Given the description of an element on the screen output the (x, y) to click on. 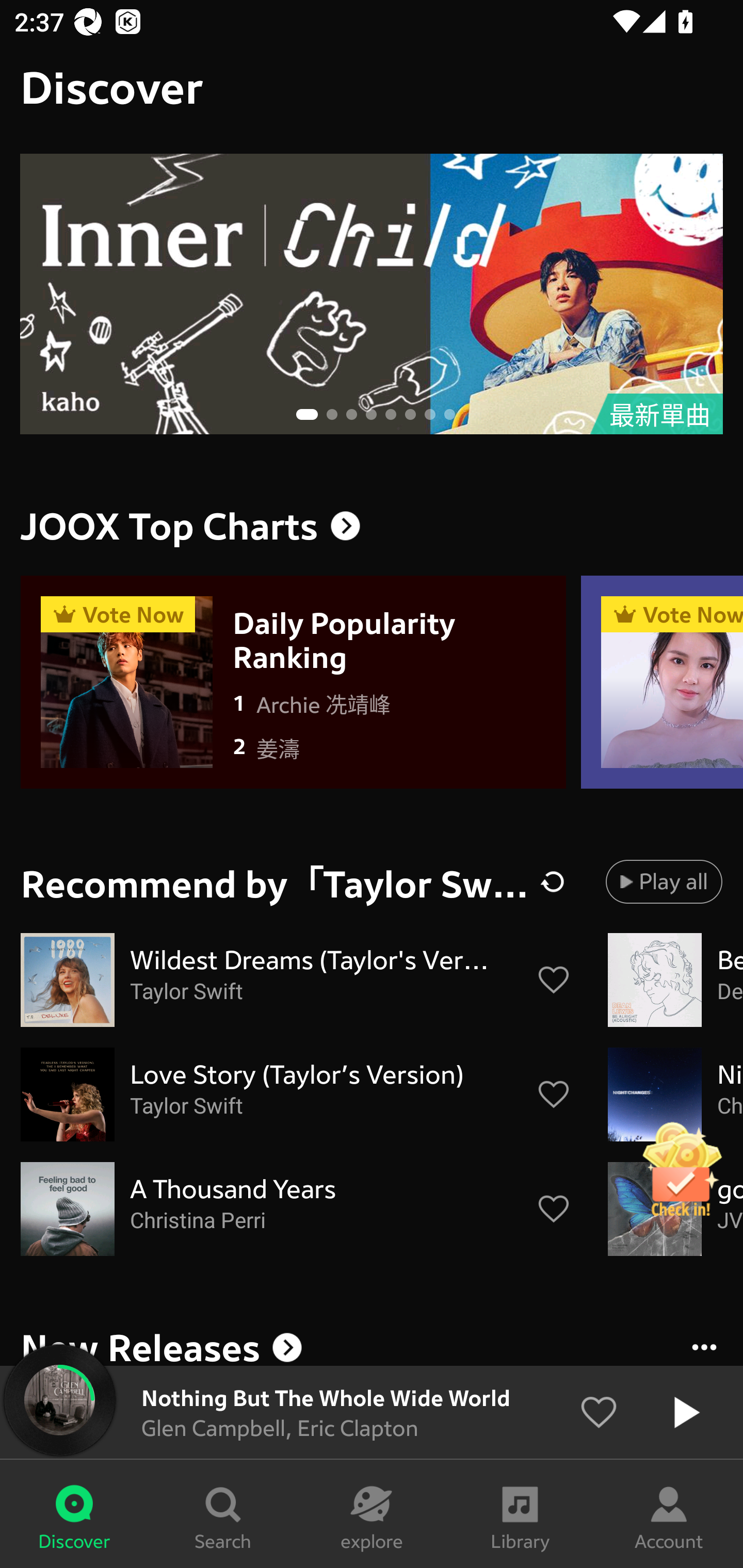
最新單曲   (371, 293)
JOOX Top Charts (371, 525)
Play all (663, 881)
Wildest Dreams (Taylor's Version) Taylor Swift (295, 979)
Love Story (Taylor’s Version) Taylor Swift (295, 1094)
A Thousand Years Christina Perri (295, 1208)
Search (222, 1513)
explore (371, 1513)
Library (519, 1513)
Account (668, 1513)
